Given the description of an element on the screen output the (x, y) to click on. 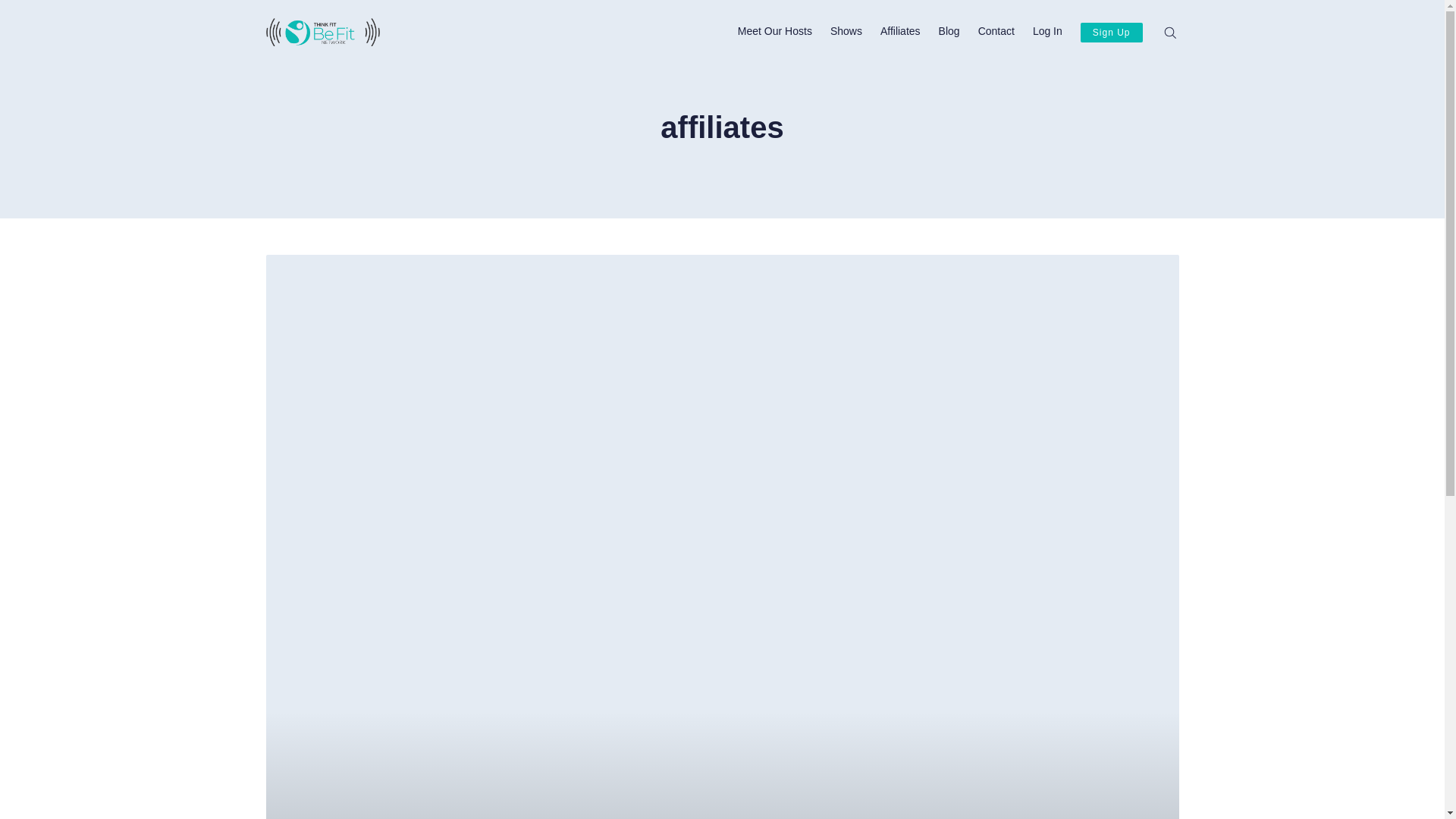
Affiliates (900, 31)
Sign Up (1111, 32)
Contact (996, 31)
Shows (949, 31)
Meet Our Hosts (845, 31)
Log In (775, 31)
